Given the description of an element on the screen output the (x, y) to click on. 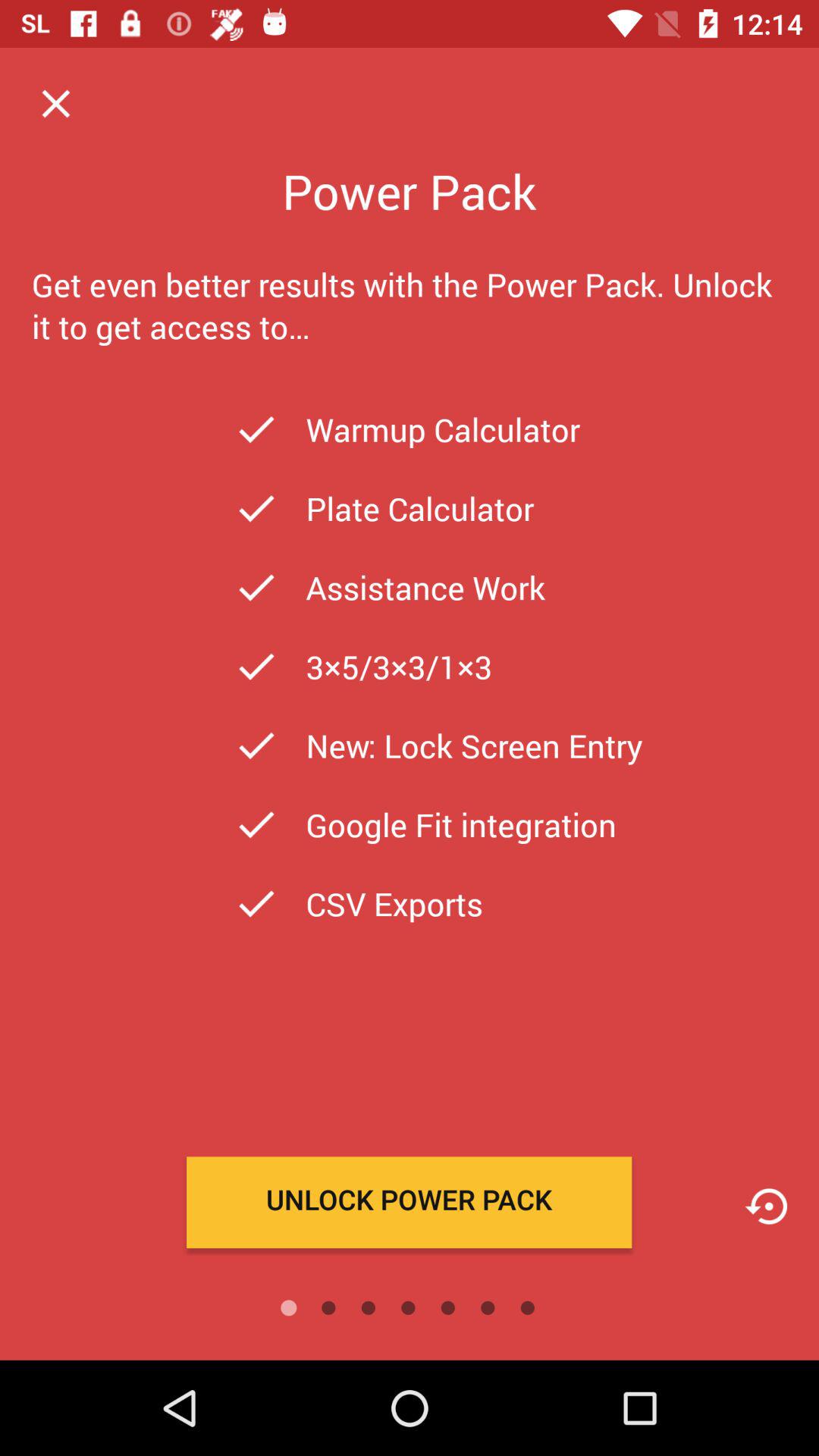
refresh button (766, 1206)
